Given the description of an element on the screen output the (x, y) to click on. 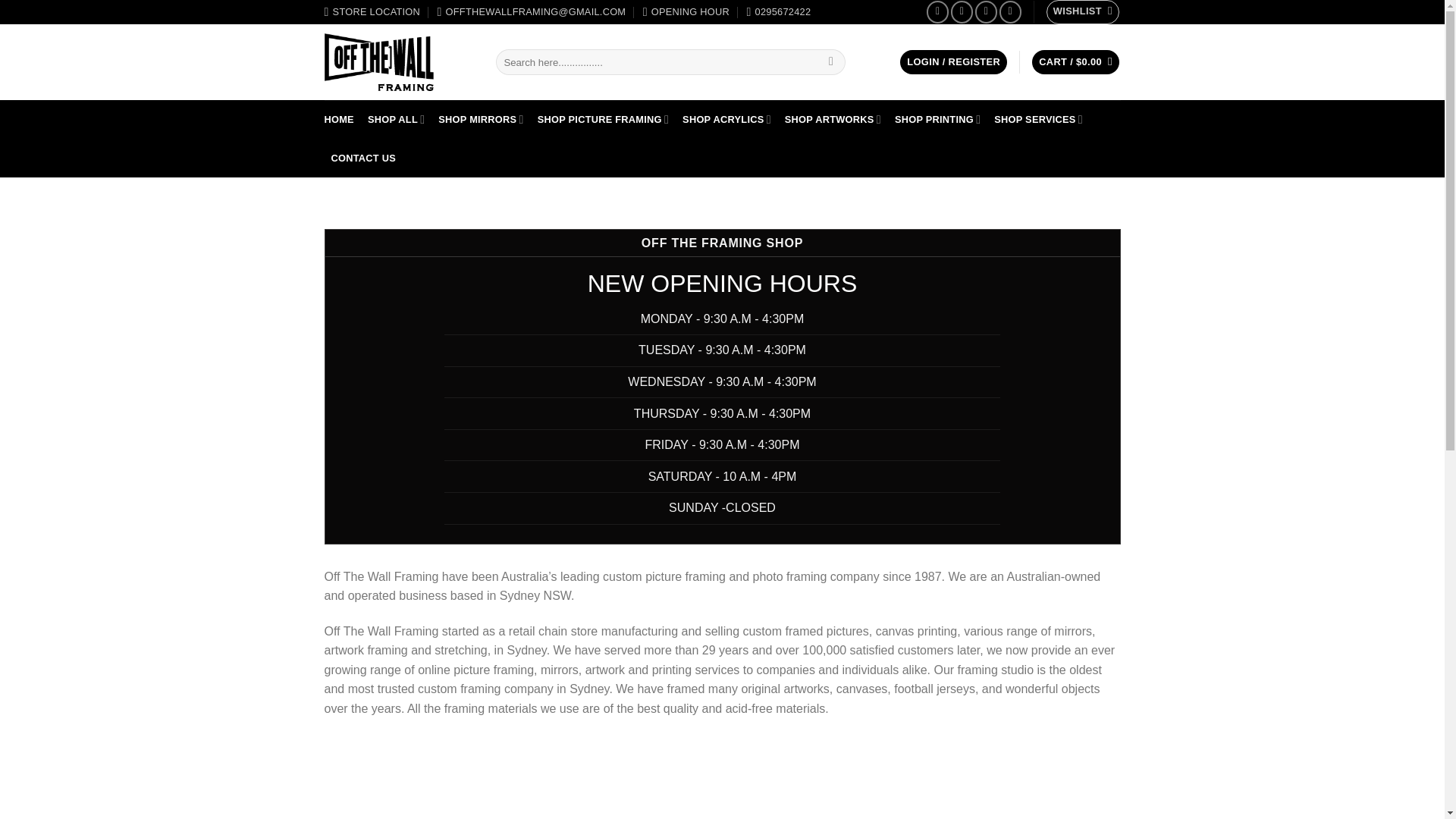
Call us (1010, 11)
0295672422 (777, 11)
Follow on Facebook (937, 11)
0295672422 (777, 11)
OPENING HOUR (686, 11)
OFFTHEWALL FRAMING - Home Deco (398, 61)
Cart (1075, 62)
SHOP ALL (396, 118)
Send us an email (986, 11)
Wishlist (1082, 12)
